Given the description of an element on the screen output the (x, y) to click on. 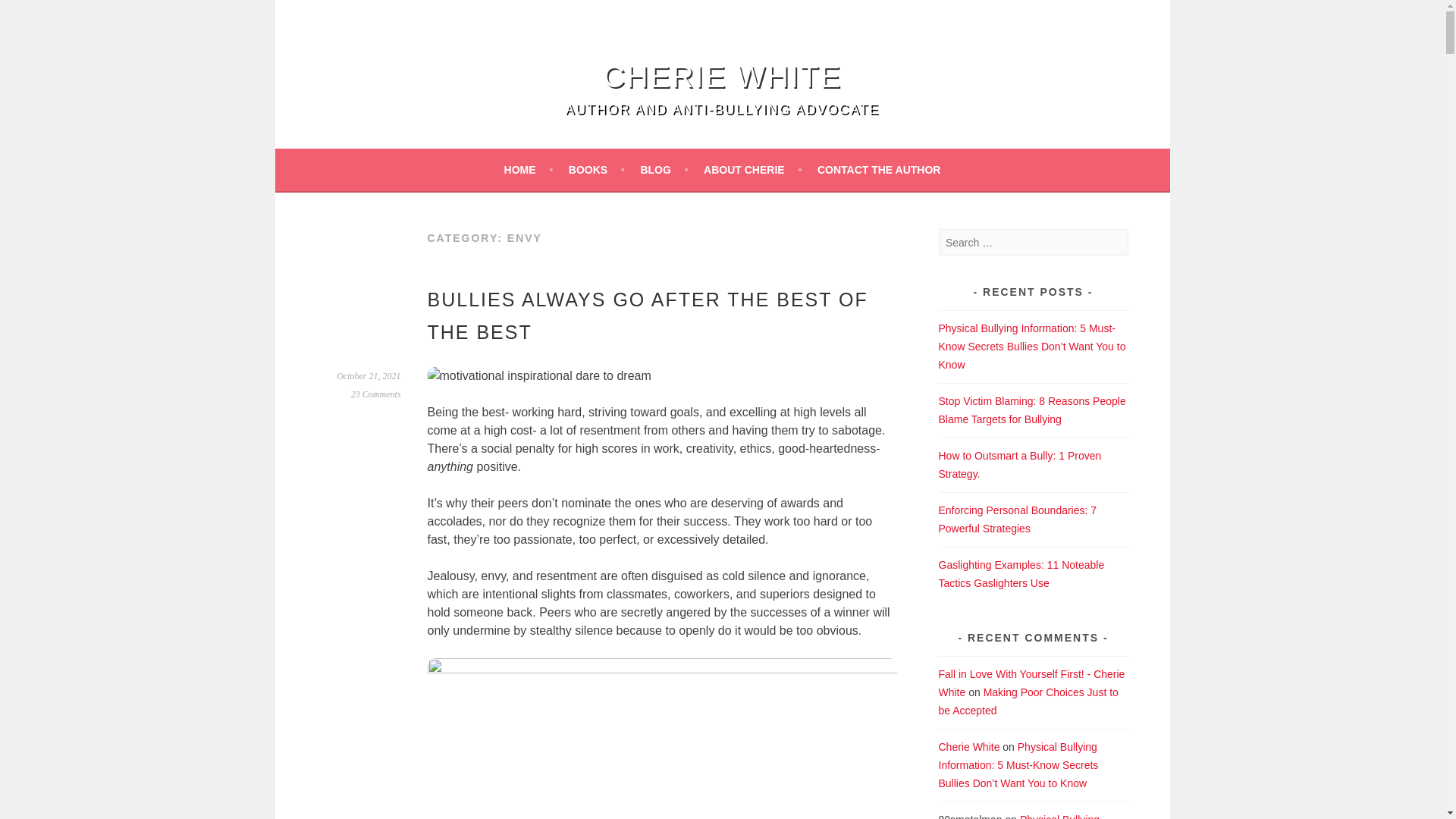
Permalink to Bullies Always Go After The Best of The Best (368, 376)
Fall in Love With Yourself First! - Cherie White (1032, 683)
Enforcing Personal Boundaries: 7 Powerful Strategies (1018, 519)
23 Comments (375, 394)
BLOG (663, 169)
Cherie White (721, 76)
CONTACT THE AUTHOR (878, 169)
Search (30, 13)
ABOUT CHERIE (752, 169)
How to Outsmart a Bully: 1 Proven Strategy. (1020, 464)
